Given the description of an element on the screen output the (x, y) to click on. 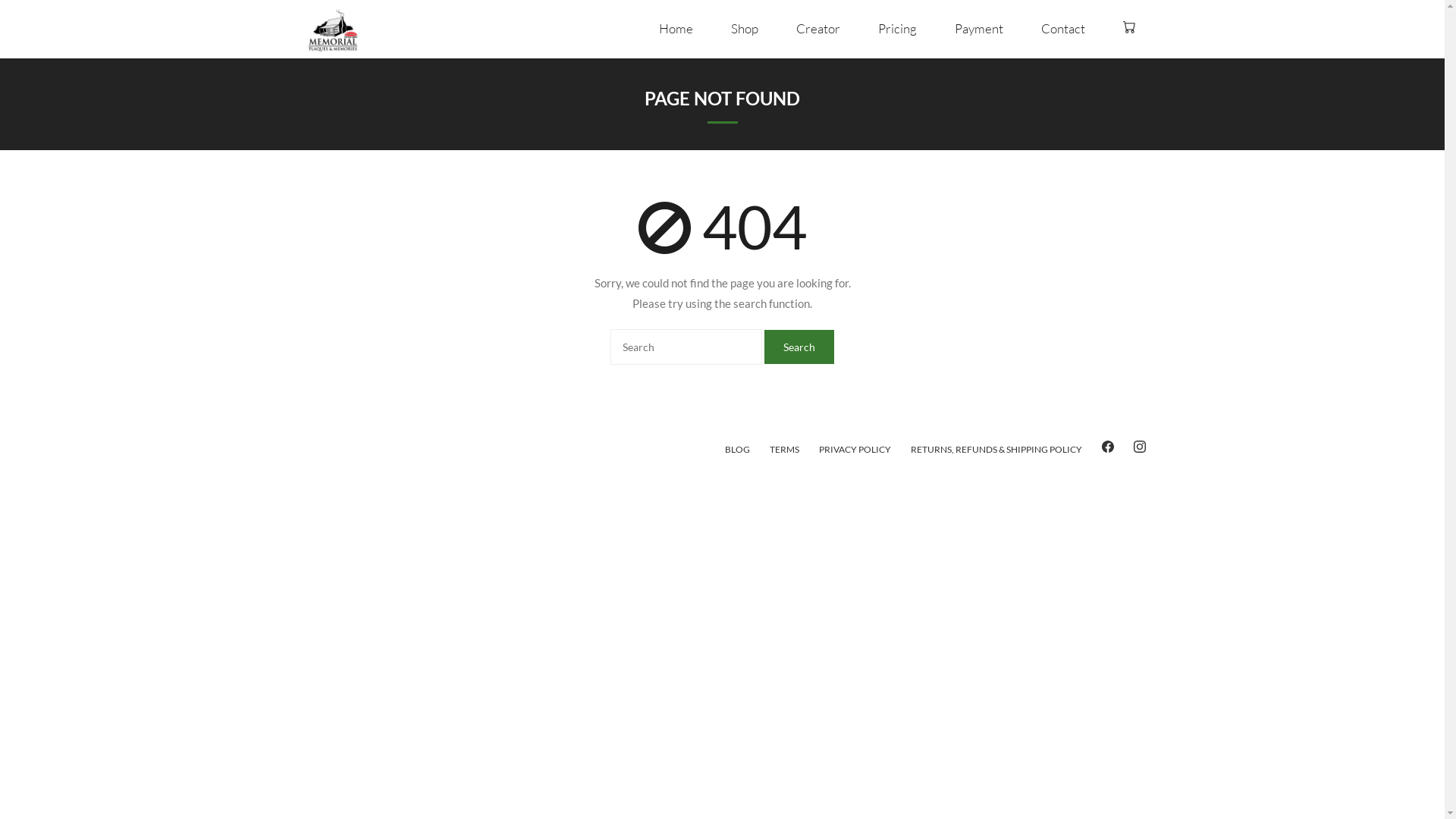
PRIVACY POLICY Element type: text (854, 449)
Shop Element type: text (744, 28)
RETURNS, REFUNDS & SHIPPING POLICY Element type: text (995, 449)
Search Element type: text (799, 346)
Creator Element type: text (818, 28)
Pricing Element type: text (897, 28)
TERMS Element type: text (783, 449)
Home Element type: text (676, 28)
Payment Element type: text (978, 28)
BLOG Element type: text (737, 449)
Contact Element type: text (1063, 28)
